Given the description of an element on the screen output the (x, y) to click on. 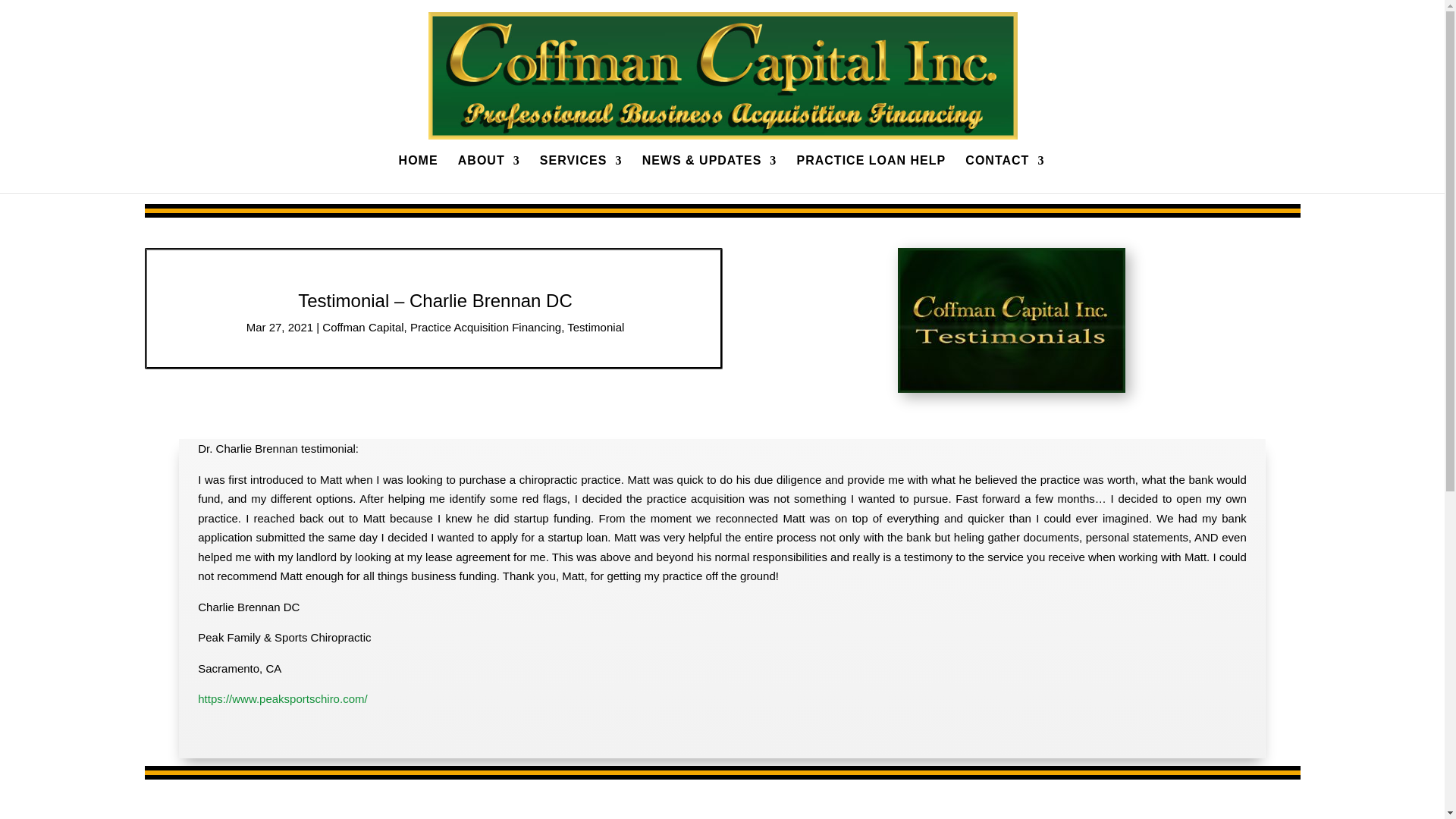
SERVICES (581, 174)
HOME (418, 174)
PRACTICE LOAN HELP (871, 174)
CONTACT (1004, 174)
ABOUT (488, 174)
